Given the description of an element on the screen output the (x, y) to click on. 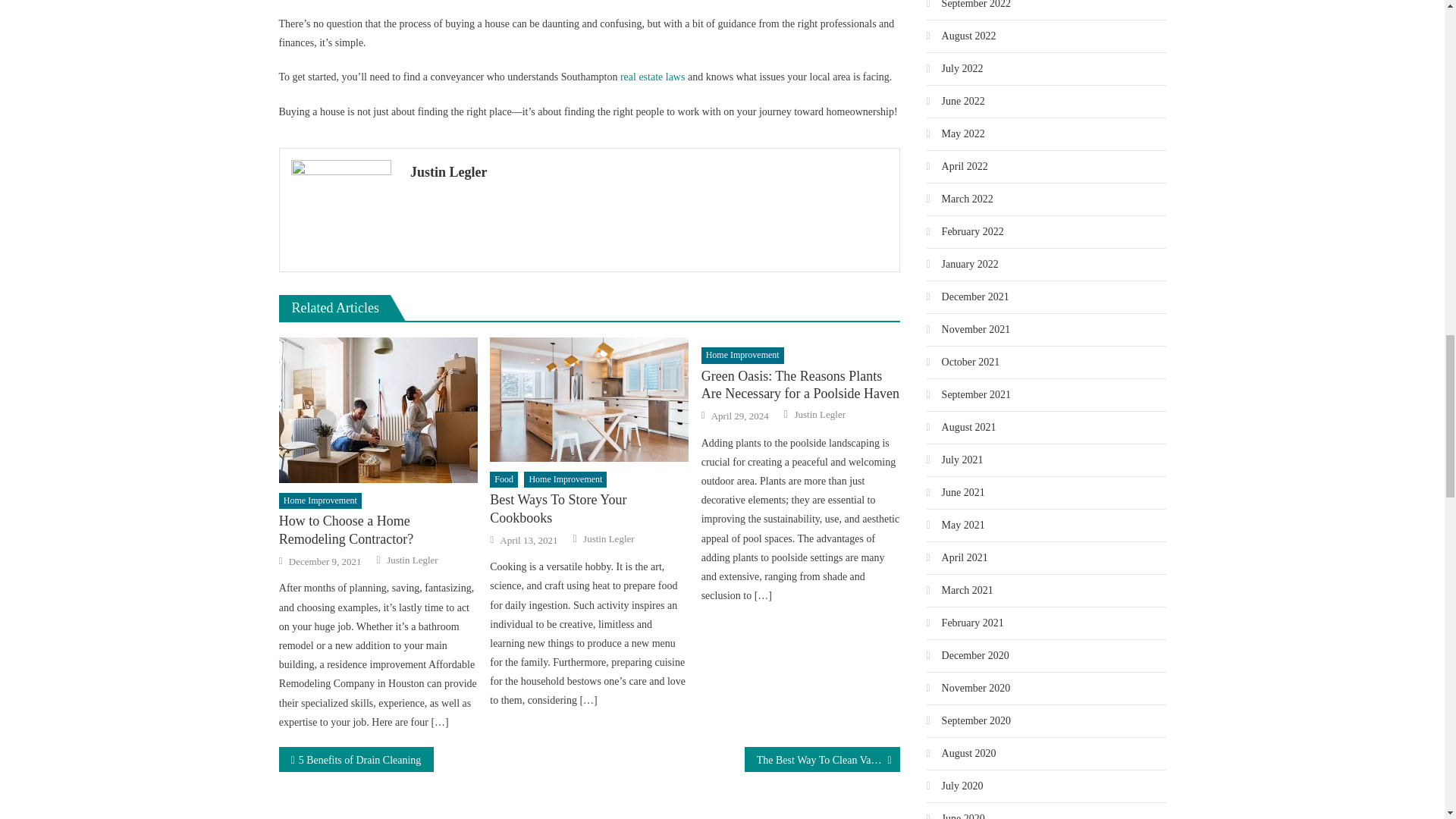
April 13, 2021 (528, 540)
Justin Legler (608, 539)
5 Benefits of Drain Cleaning (356, 759)
Best Ways To Store Your Cookbooks (588, 399)
How to Choose a Home Remodeling Contractor? (378, 529)
Food (503, 479)
Justin Legler (412, 560)
real estate laws (652, 76)
Best Ways To Store Your Cookbooks (588, 509)
Home Improvement (565, 479)
Justin Legler (649, 171)
Home Improvement (320, 501)
April 29, 2024 (739, 416)
The Best Way To Clean Vanities For The Bathroom (821, 759)
Justin Legler (819, 414)
